Given the description of an element on the screen output the (x, y) to click on. 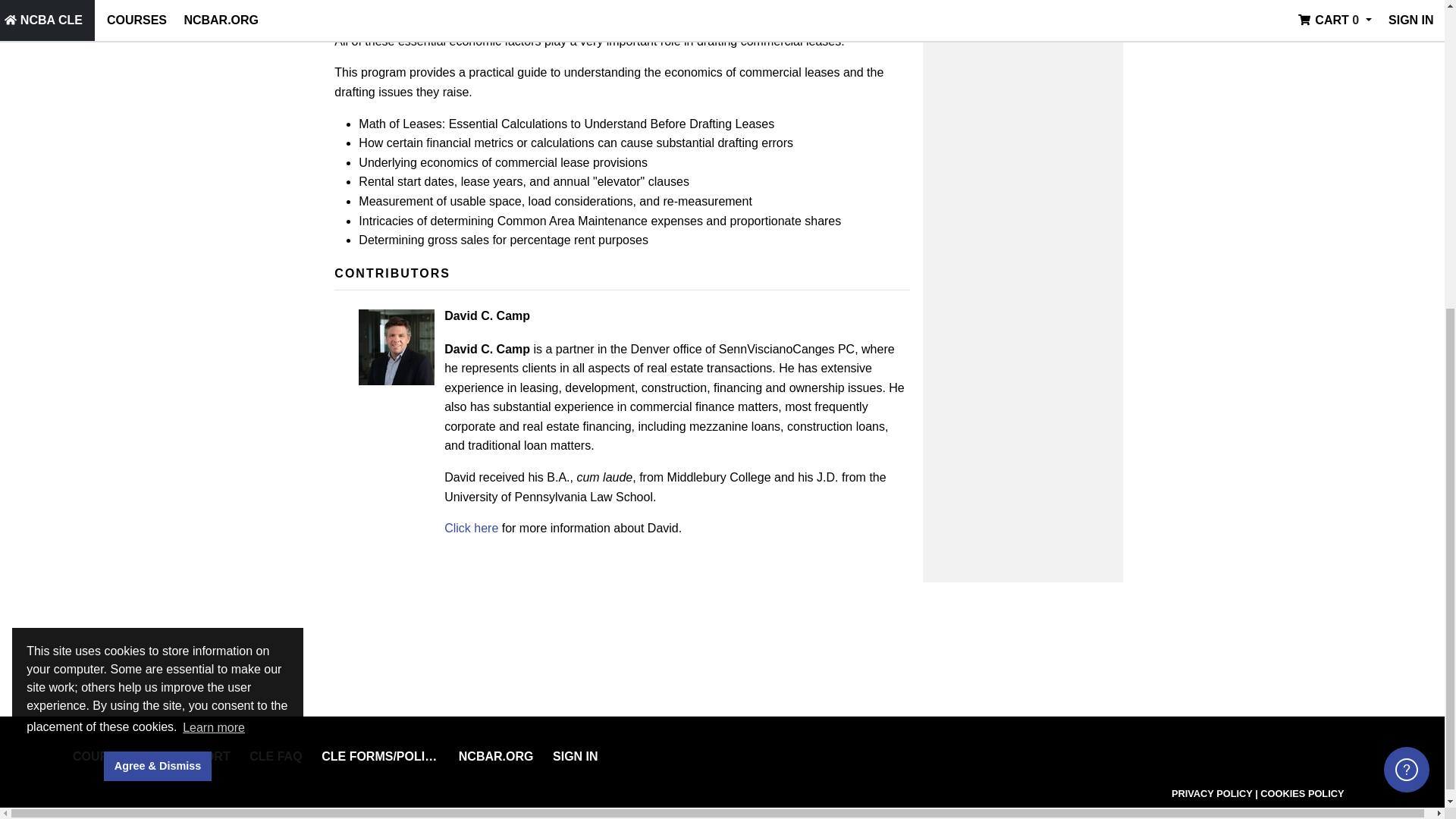
Learn more (213, 227)
Click here (470, 527)
Courses (102, 756)
NCBAR.ORG (496, 756)
CLE FAQ (274, 756)
Support (200, 756)
